Given the description of an element on the screen output the (x, y) to click on. 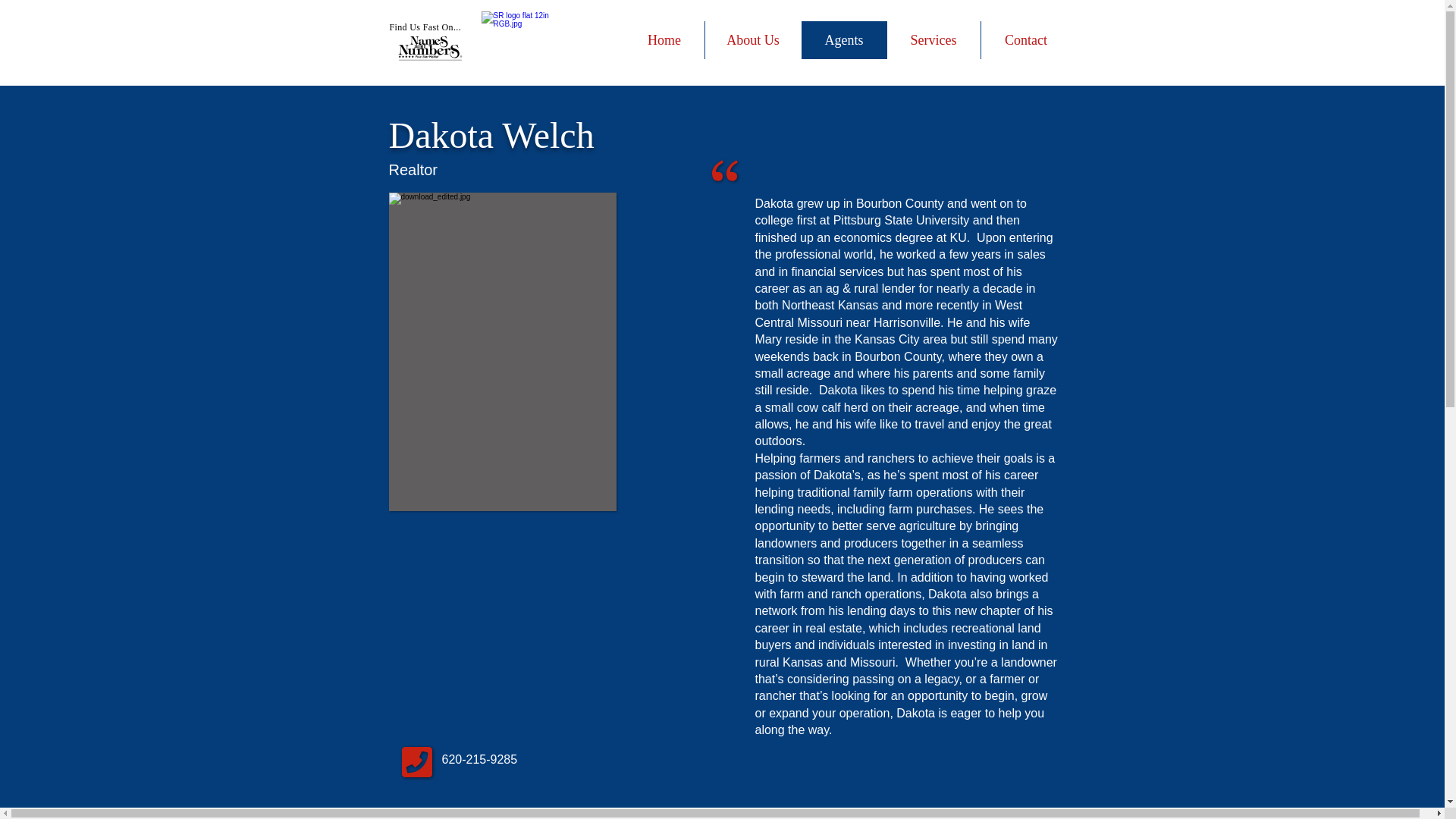
Contact (1024, 39)
About Us (751, 39)
Services (932, 39)
Home (664, 39)
Agents (842, 39)
620-215-9285 (478, 758)
